Given the description of an element on the screen output the (x, y) to click on. 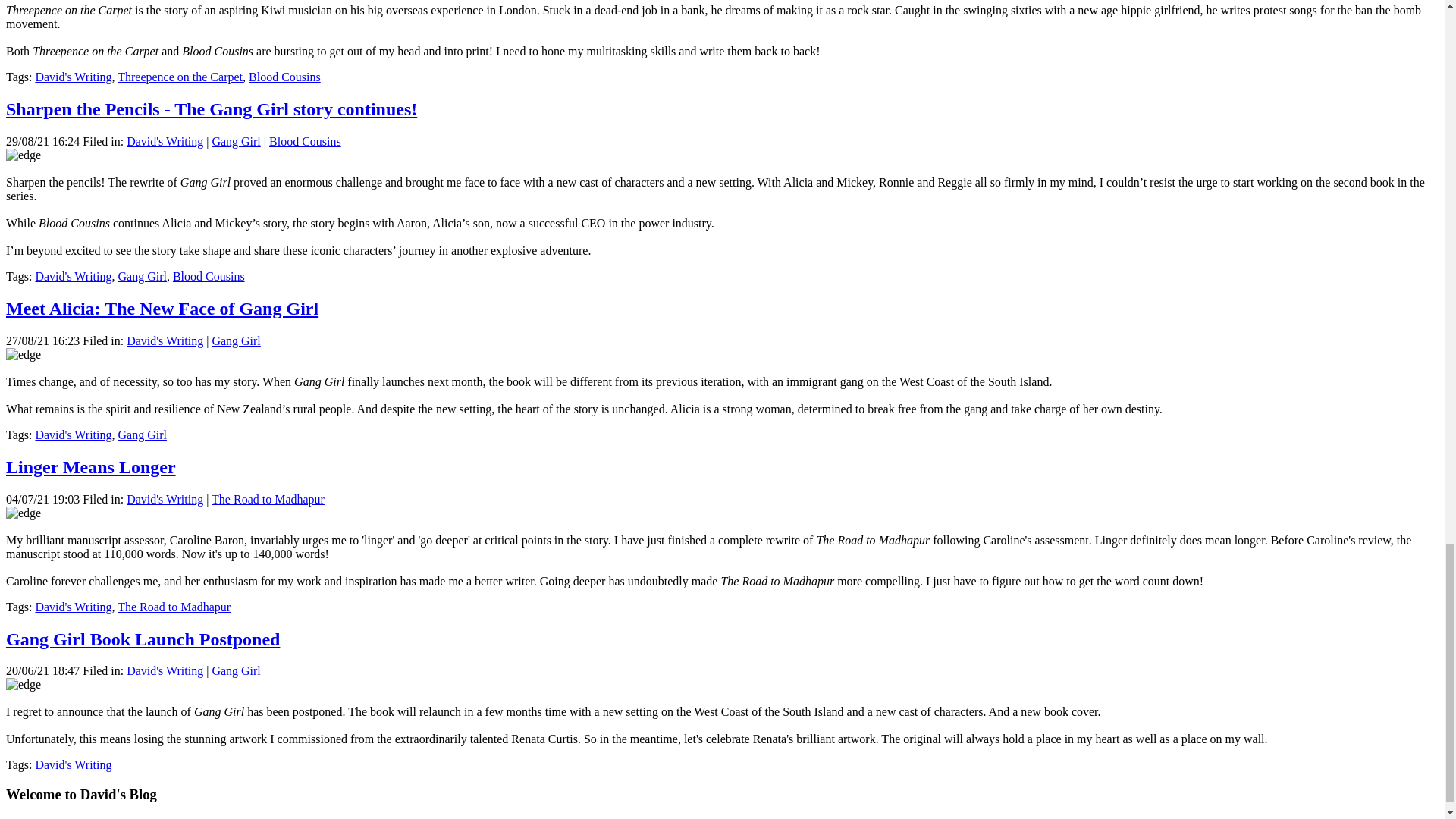
Threepence on the Carpet (180, 76)
David's Writing (73, 606)
Gang Girl (141, 434)
David's Writing (73, 434)
David's Writing (73, 764)
Threepence on the Carpet (180, 76)
The Road to Madhapur (173, 606)
David's Writing (73, 276)
Gang Girl (141, 276)
Sharpen the Pencils - The Gang Girl story continues! (210, 108)
David's Writing (73, 76)
Blood Cousins (284, 76)
Blood Cousins (284, 76)
Blood Cousins (208, 276)
David's Writing (164, 141)
